Given the description of an element on the screen output the (x, y) to click on. 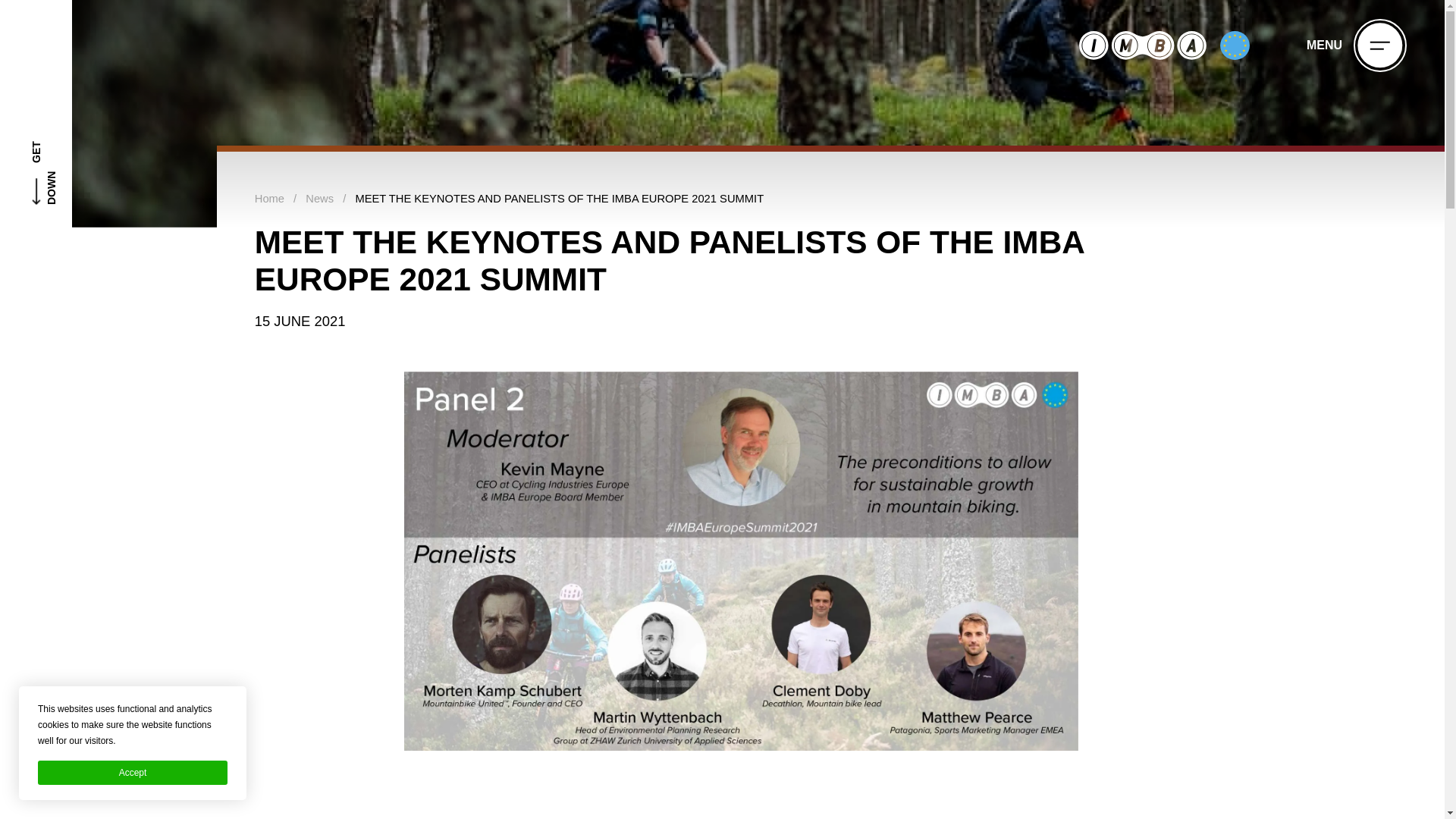
GET DOWN (78, 113)
Home (268, 198)
GET DOWN (35, 113)
News (319, 198)
MENU (1356, 45)
